Given the description of an element on the screen output the (x, y) to click on. 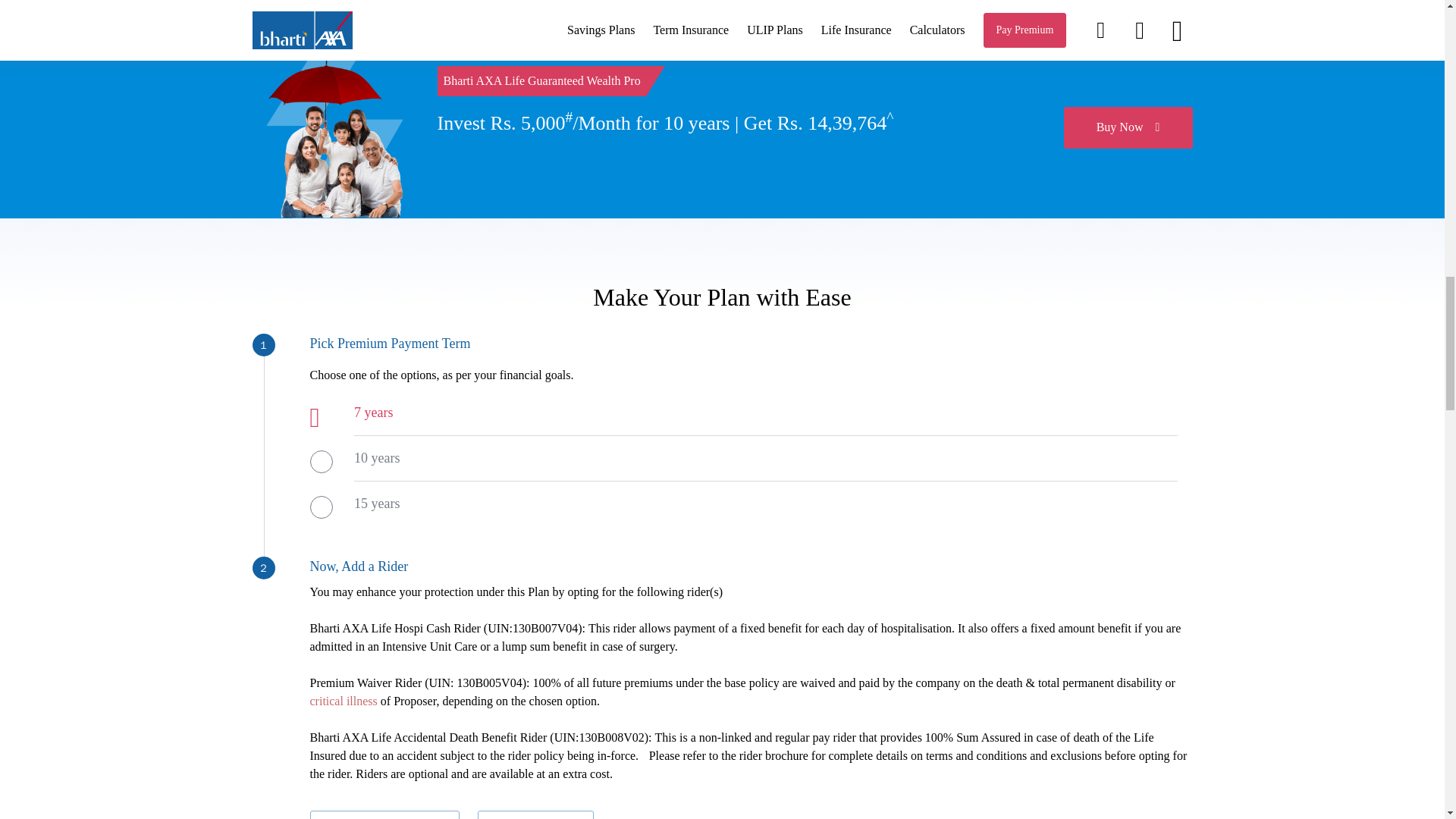
Invest with Guaranteed Wealth Pro with All-Around Protection (327, 127)
Buy Now (1127, 127)
Download Brochure (384, 814)
critical illness (342, 700)
